Given the description of an element on the screen output the (x, y) to click on. 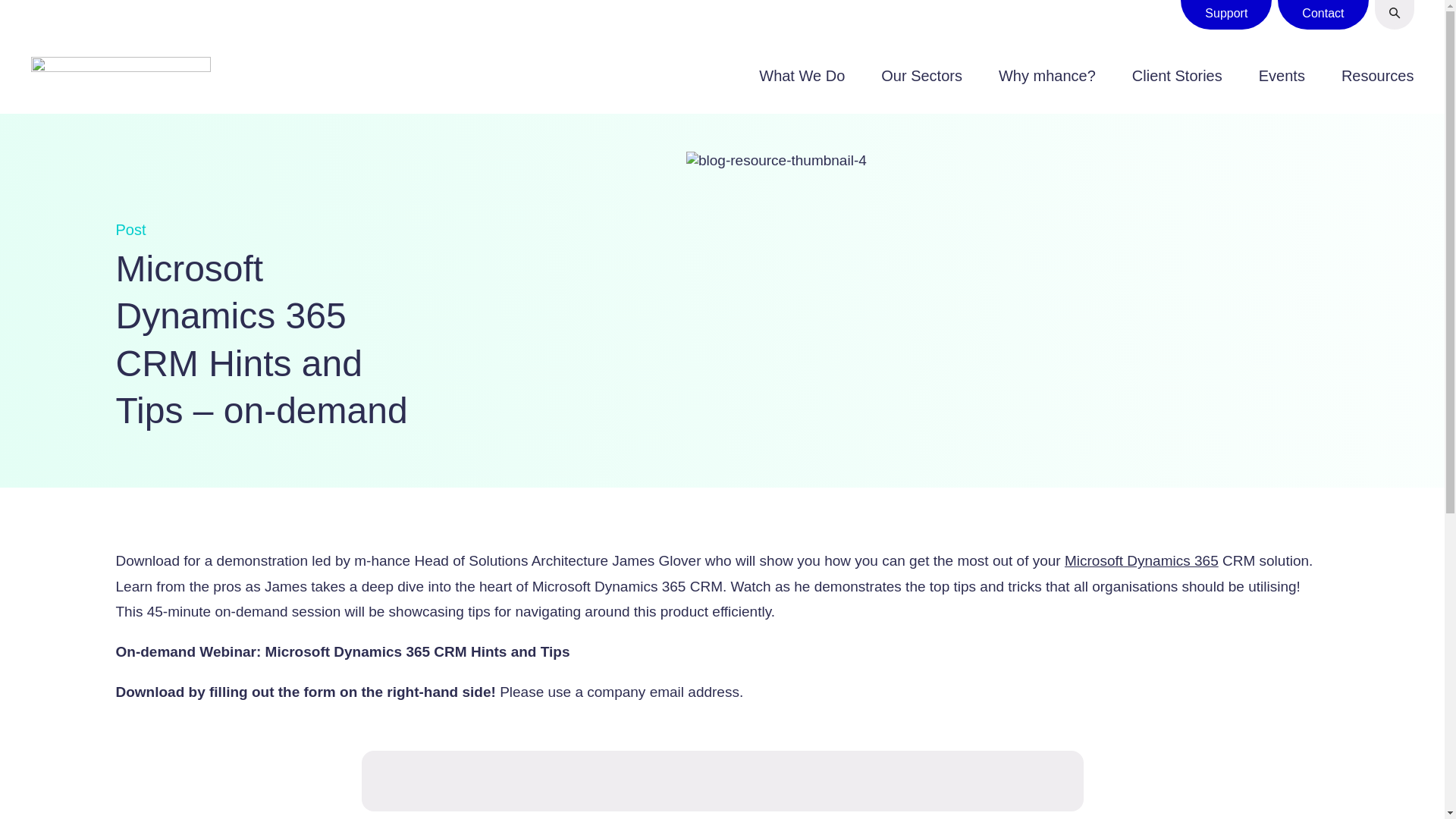
Why mhance? (1047, 75)
Support (1225, 14)
mhance (119, 75)
Search (1393, 14)
Our Sectors (921, 75)
Contact (1323, 14)
Client Stories (1177, 75)
Support (1225, 14)
What We Do (801, 75)
Contact (1323, 14)
